Given the description of an element on the screen output the (x, y) to click on. 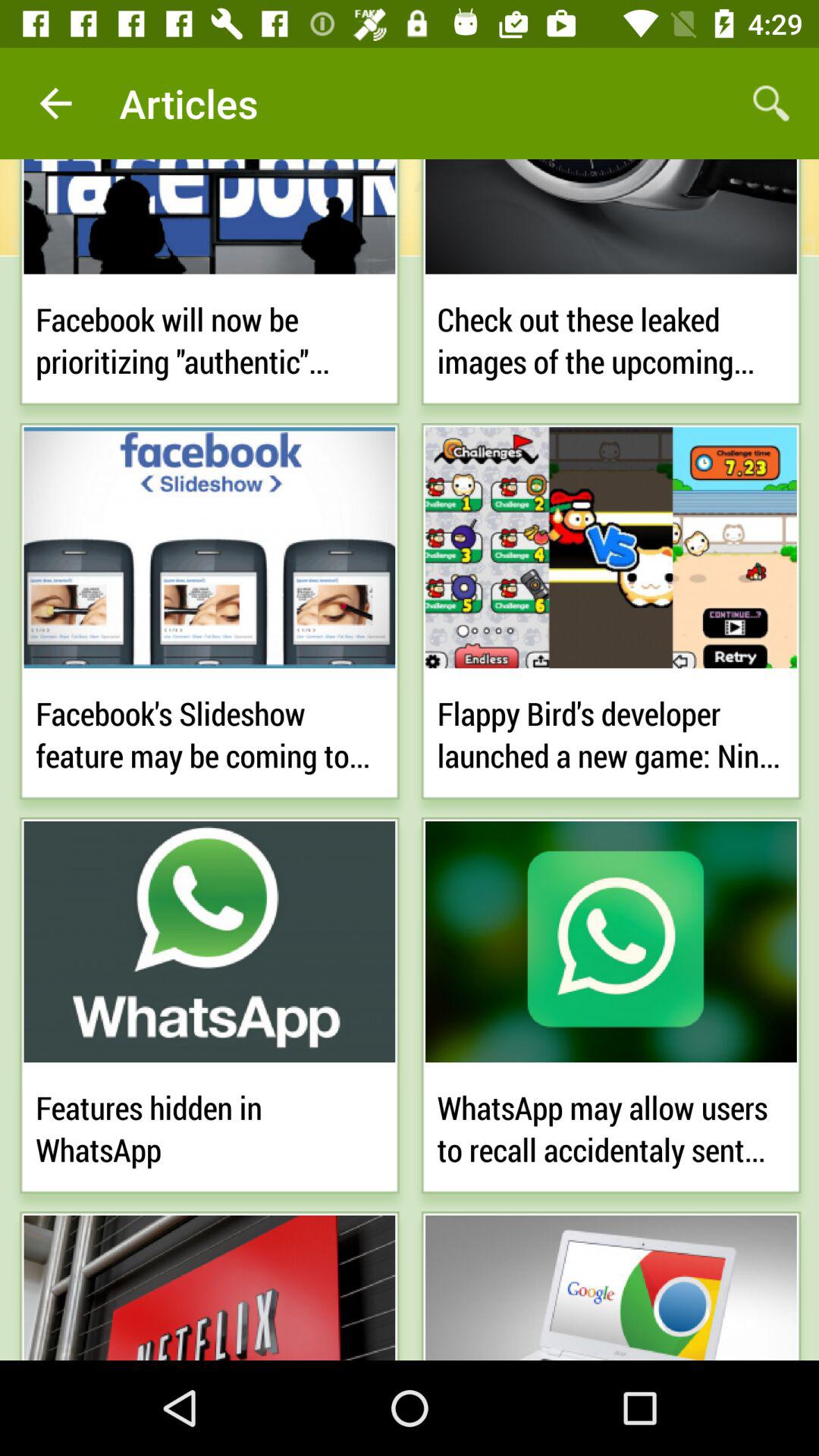
swipe until the check out these item (610, 337)
